Given the description of an element on the screen output the (x, y) to click on. 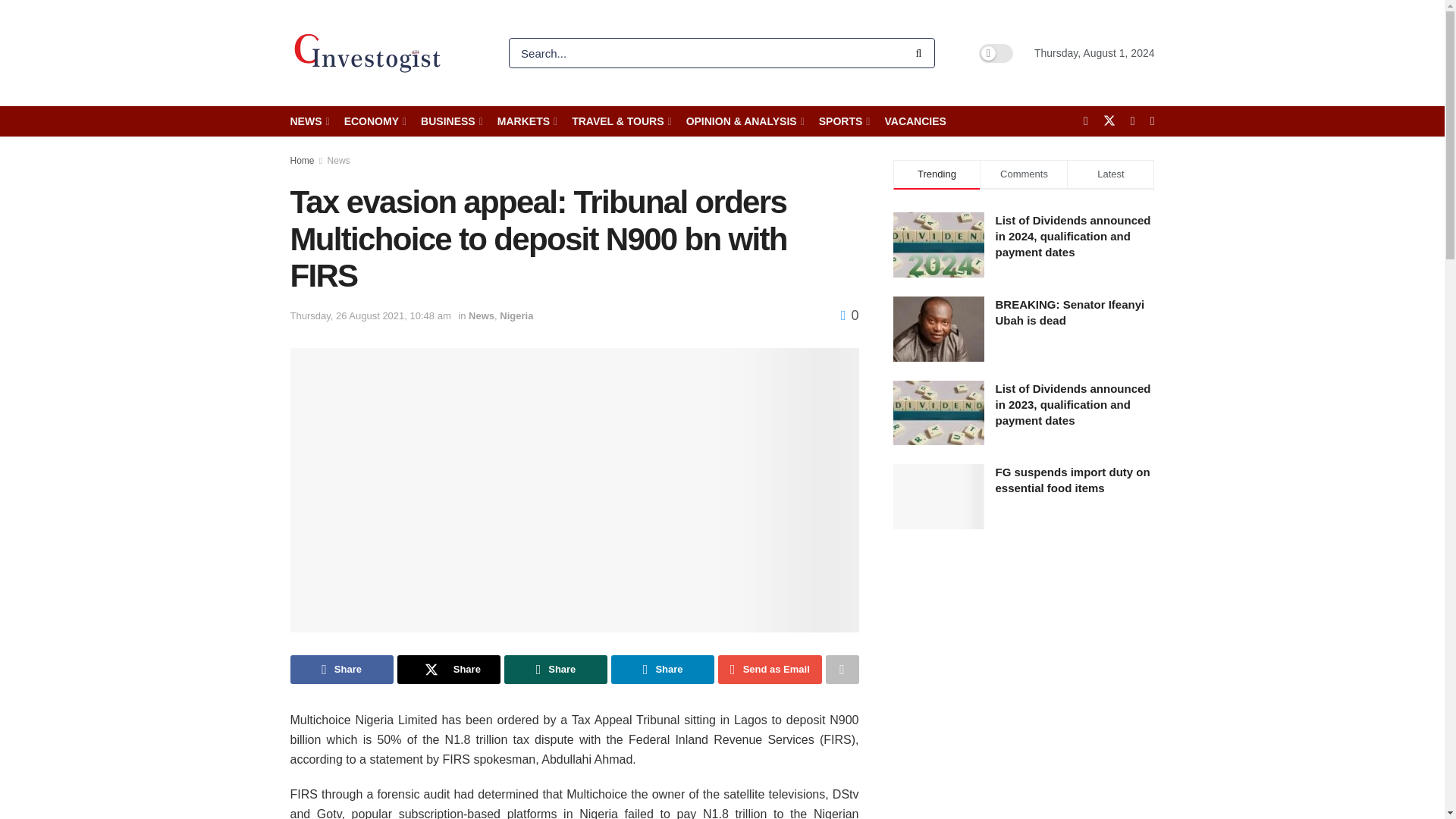
NEWS (307, 120)
ECONOMY (373, 120)
